Given the description of an element on the screen output the (x, y) to click on. 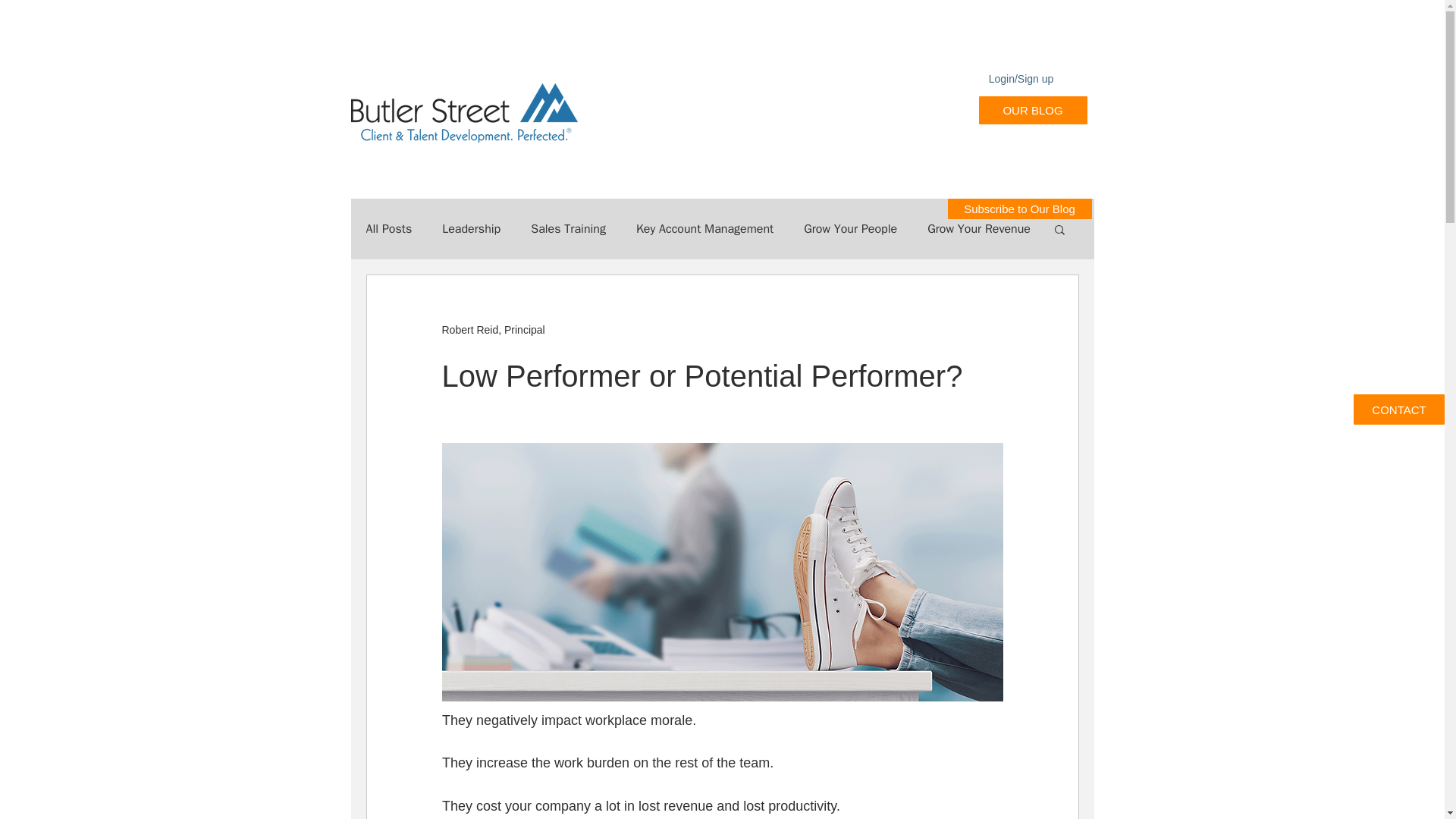
Grow Your People (849, 229)
Butlerstreetlogo.png (463, 113)
Leadership (471, 229)
Key Account Management (704, 229)
OUR BLOG (1032, 110)
Grow Your Revenue (978, 229)
All Posts (388, 229)
Log In (1035, 109)
Sales Training (568, 229)
Robert Reid, Principal (492, 329)
